Given the description of an element on the screen output the (x, y) to click on. 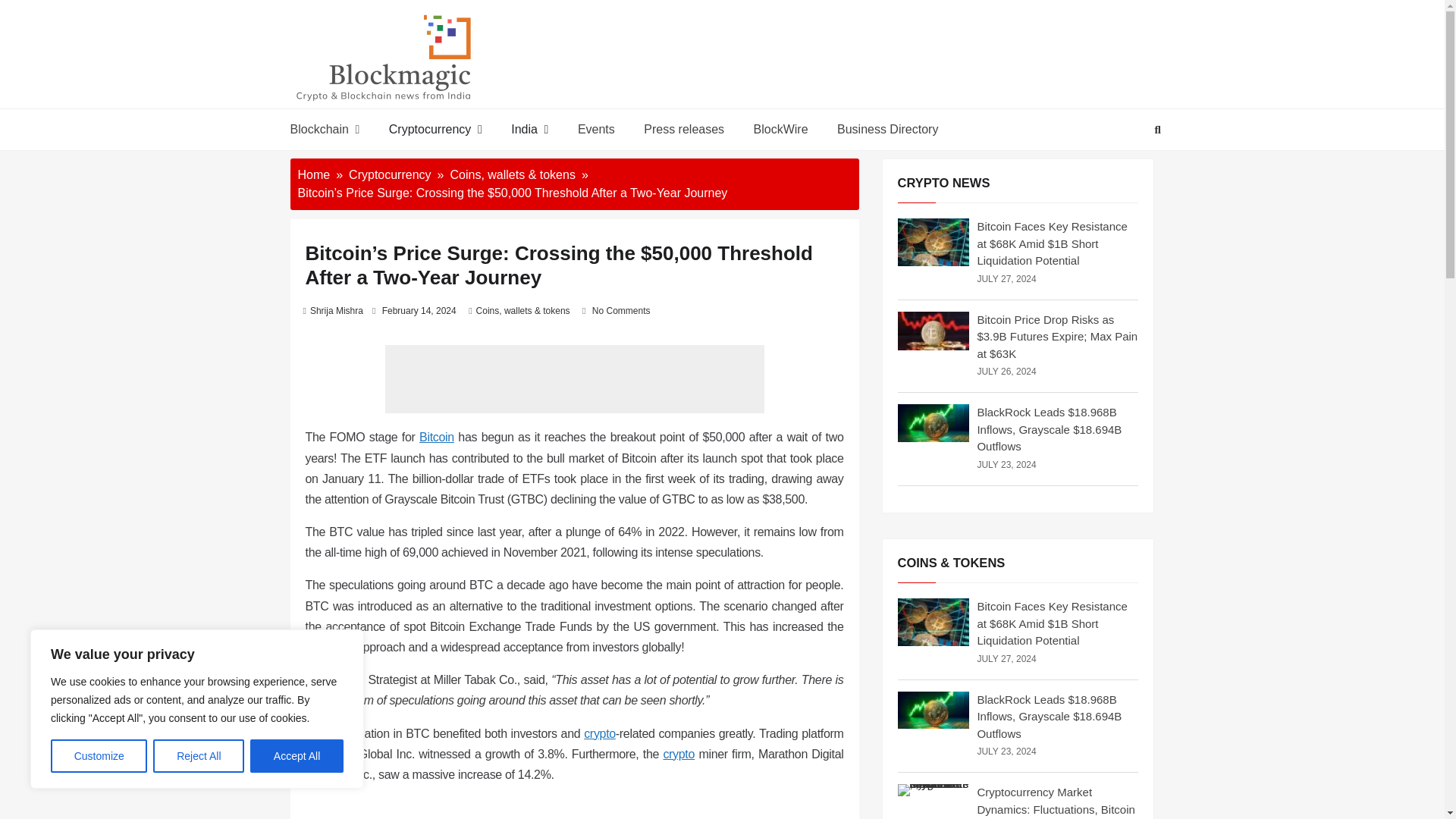
give any dummy title (436, 436)
Accept All (296, 756)
Reject All (198, 756)
Advertisement (574, 378)
Customize (98, 756)
